Given the description of an element on the screen output the (x, y) to click on. 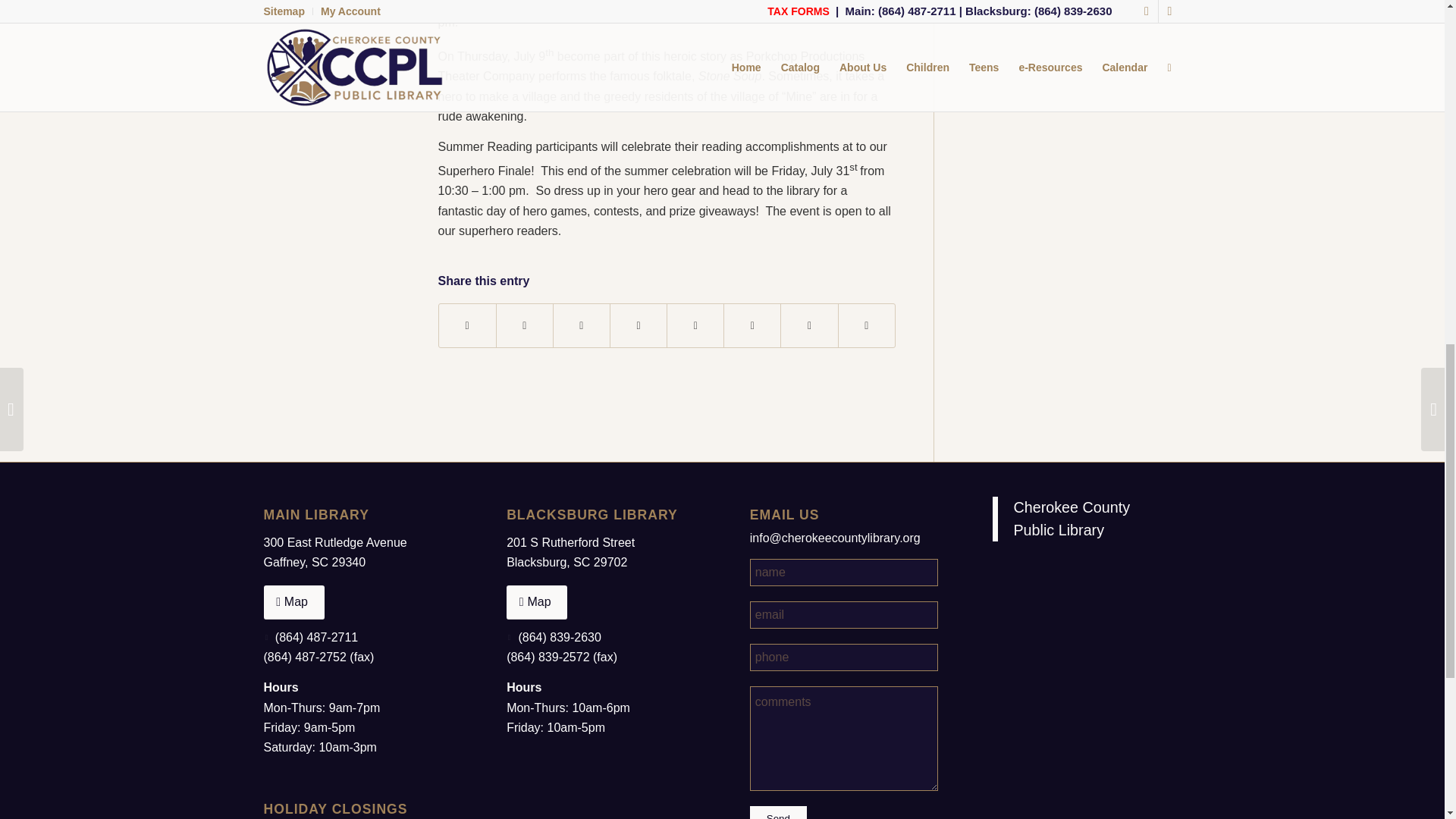
Map (536, 602)
Send (777, 812)
Send (777, 812)
Cherokee County Public Library (1071, 518)
Map (293, 602)
